Given the description of an element on the screen output the (x, y) to click on. 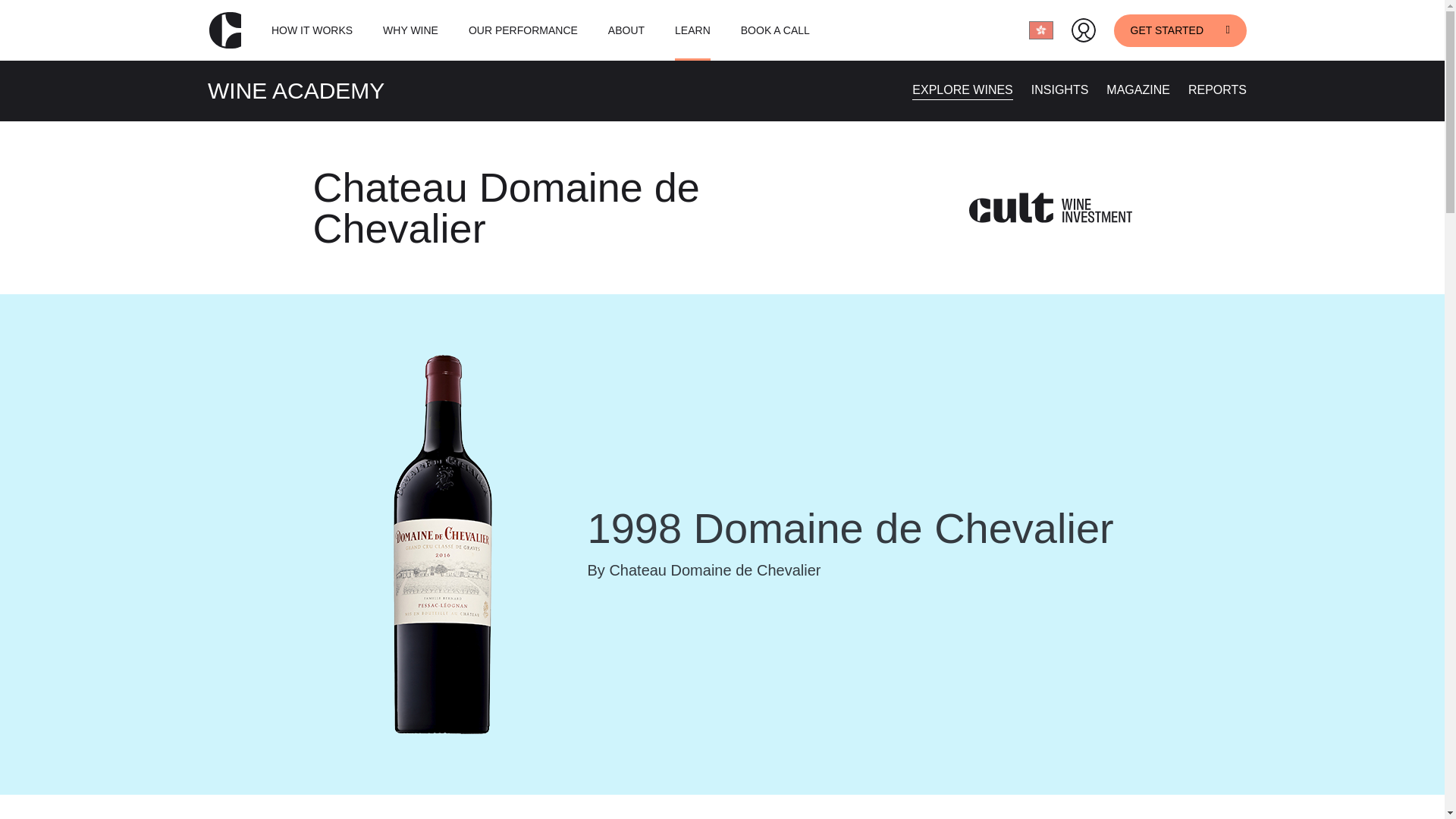
Chateau Domaine de Chevalier (506, 207)
WINE ACADEMY (296, 90)
INSIGHTS (1059, 90)
HOW IT WORKS (311, 30)
GET STARTED (1179, 29)
REPORTS (1217, 90)
BOOK A CALL (775, 30)
MAGAZINE (1138, 90)
OUR PERFORMANCE (523, 30)
EXPLORE WINES (961, 90)
WHY WINE (410, 30)
